Given the description of an element on the screen output the (x, y) to click on. 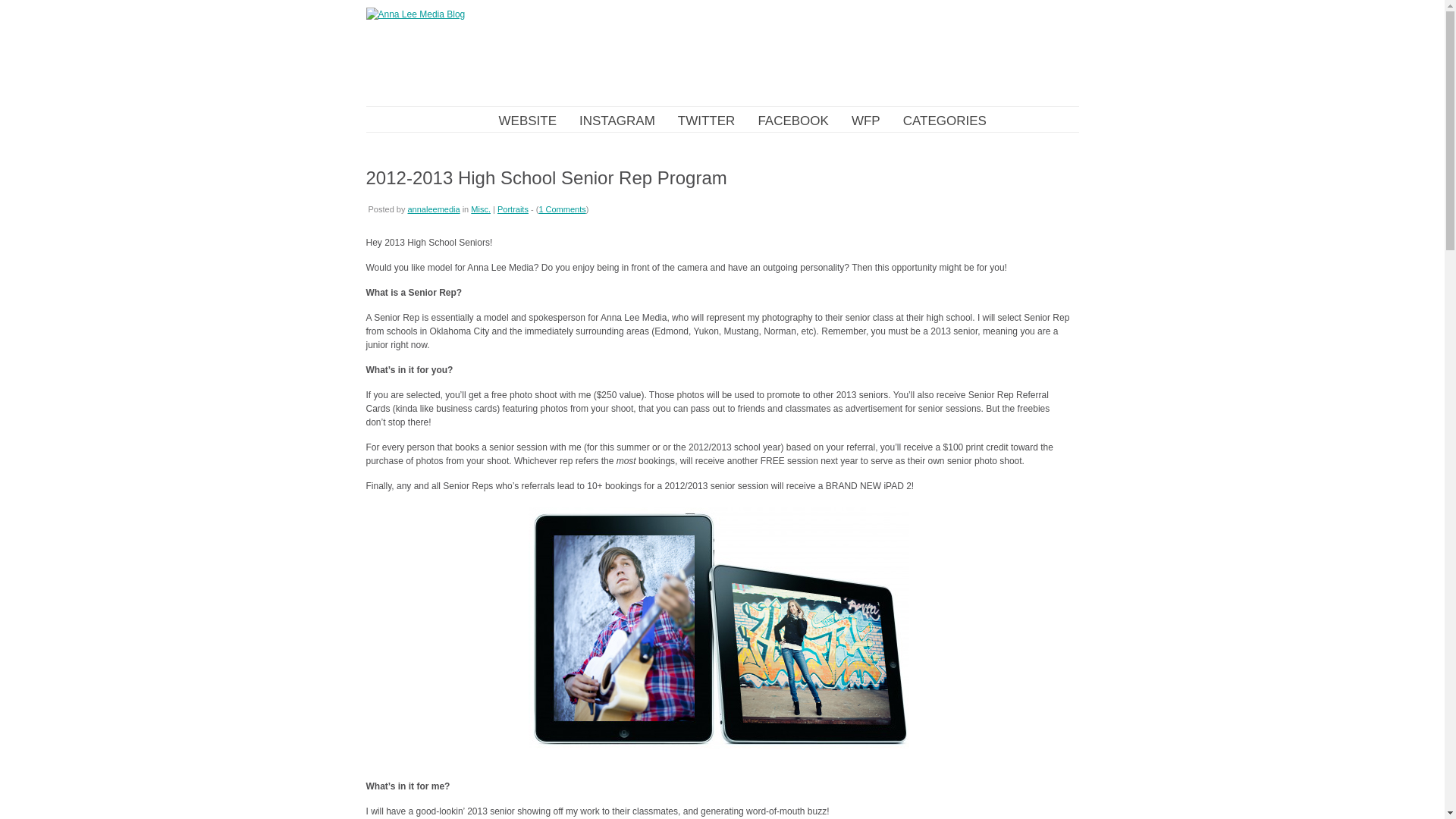
INSTAGRAM (617, 120)
2012-2013 High School Senior Rep Program (545, 177)
WEBSITE (528, 120)
FACEBOOK (792, 120)
annaleemedia (433, 208)
View all posts by annaleemedia (433, 208)
2012-2013 High School Senior Rep Program (545, 177)
TWITTER (706, 120)
WFP (865, 120)
Anna Lee Photography 2013 Senior Rep Program (717, 628)
Portraits (512, 208)
Misc. (480, 208)
1 Comments (561, 208)
